Given the description of an element on the screen output the (x, y) to click on. 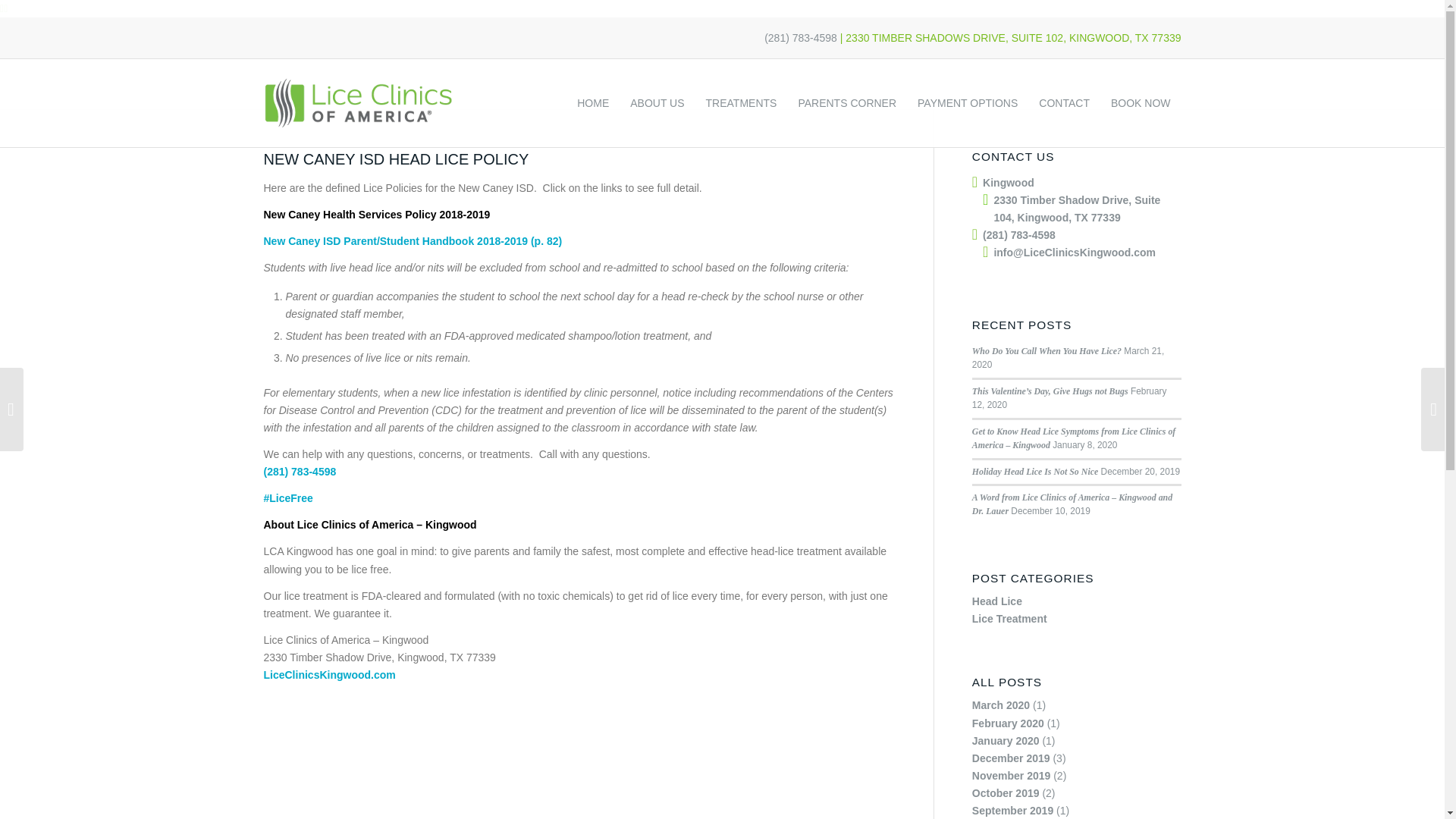
Head Lice (997, 601)
Holiday Head Lice Is Not So Nice (1034, 470)
New Caney Health Services Policy 2018-2019  (378, 214)
February 2020 (1007, 723)
Kingwood (1007, 182)
LiceClinicsKingwood.com (329, 674)
Who Do You Call When You Have Lice? (1046, 350)
2330 Timber Shadow Drive, Suite 104, Kingwood, TX 77339 (1076, 208)
PARENTS CORNER (846, 102)
Lice Treatment (1009, 618)
March 2020 (1000, 705)
PAYMENT OPTIONS (967, 102)
